Given the description of an element on the screen output the (x, y) to click on. 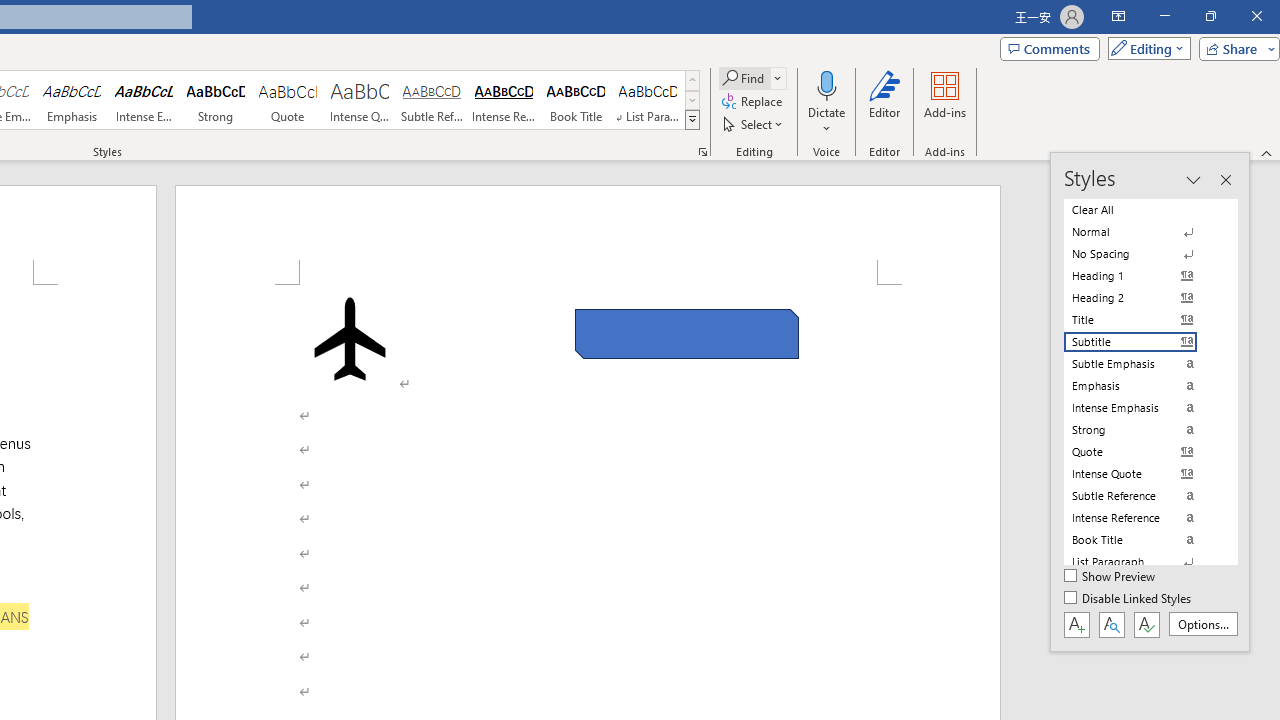
Book Title (575, 100)
Show Preview (1110, 577)
Intense Reference (504, 100)
